Given the description of an element on the screen output the (x, y) to click on. 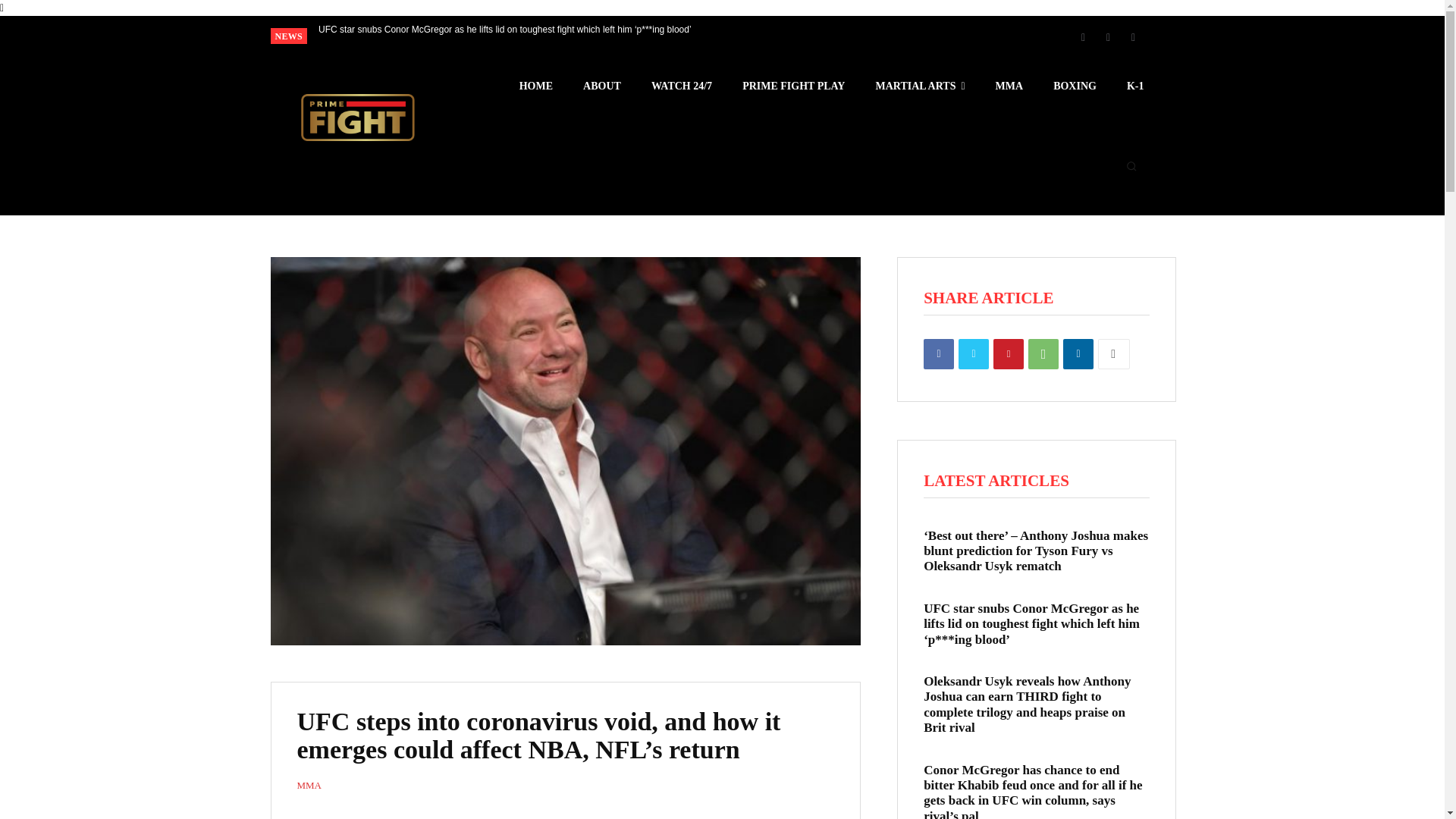
Facebook (1082, 35)
MARTIAL ARTS (919, 86)
PRIME FIGHT PLAY (793, 86)
